Given the description of an element on the screen output the (x, y) to click on. 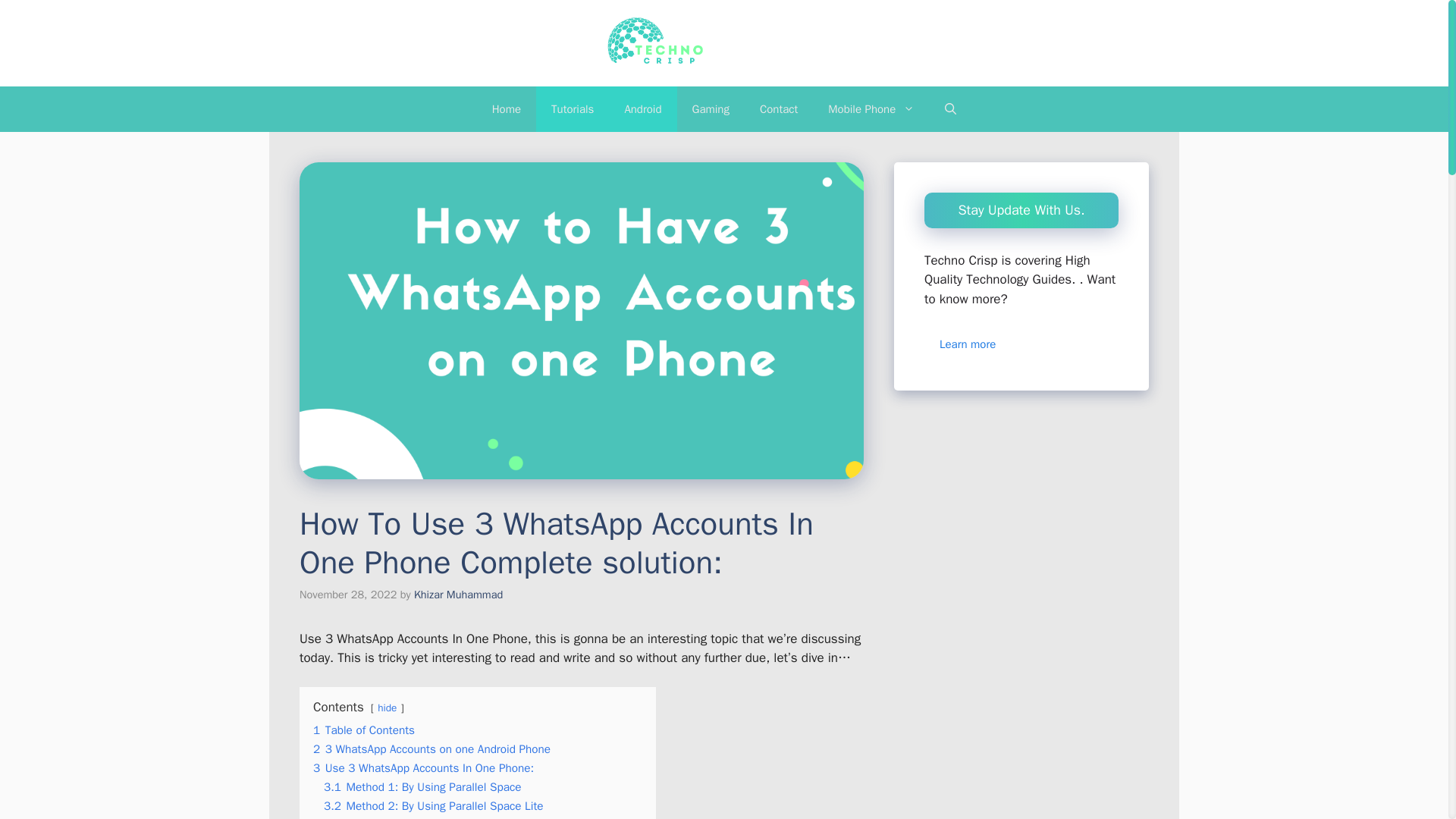
Android (642, 108)
2 3 WhatsApp Accounts on one Android Phone (431, 749)
Mobile Phone (871, 108)
3.2 Method 2: By Using Parallel Space Lite (433, 806)
Home (506, 108)
Gaming (710, 108)
3.1 Method 1: By Using Parallel Space (422, 786)
3 Use 3 WhatsApp Accounts In One Phone: (423, 767)
Khizar Muhammad (457, 594)
